Given the description of an element on the screen output the (x, y) to click on. 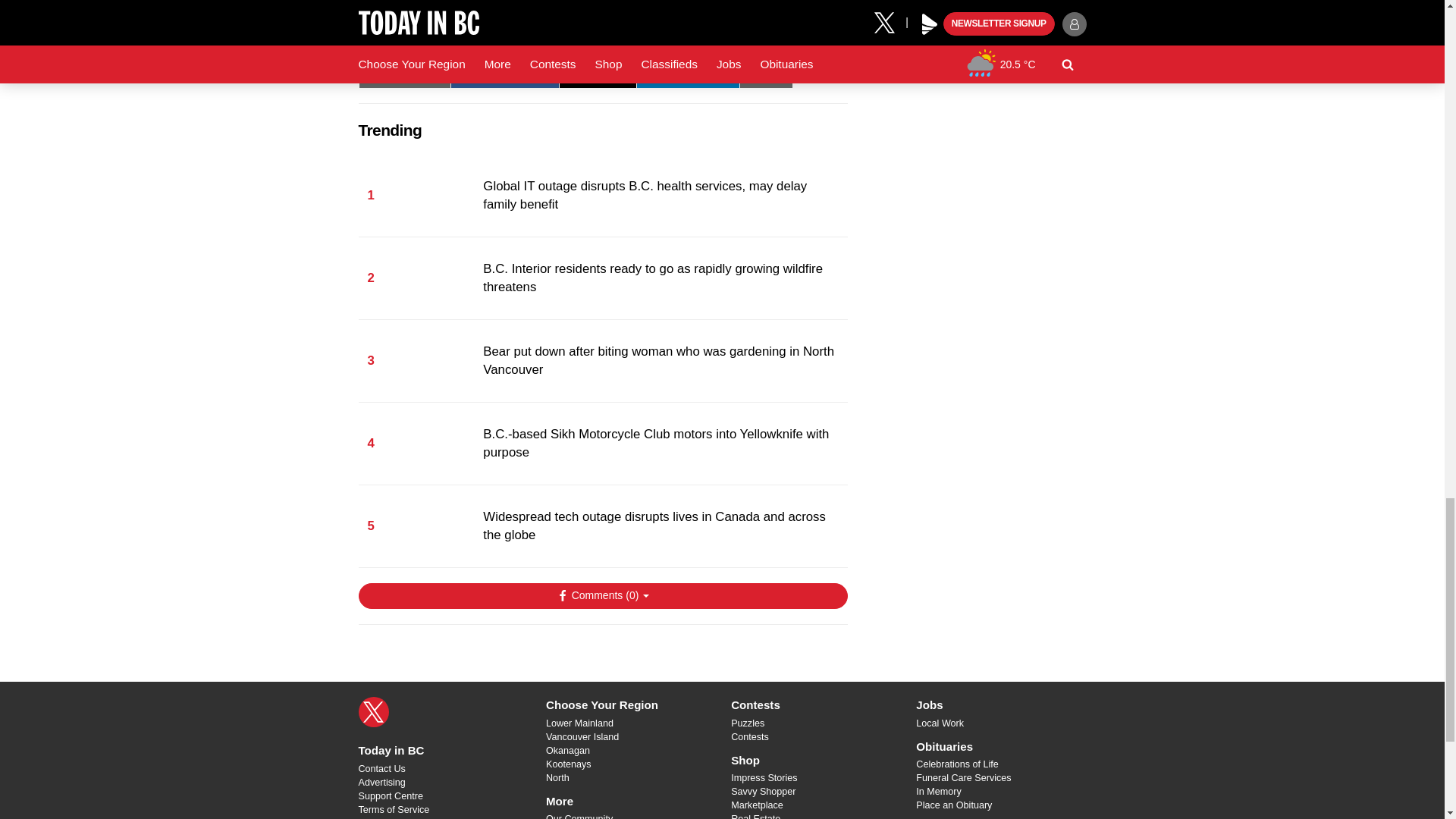
X (373, 711)
Show Comments (602, 596)
